Given the description of an element on the screen output the (x, y) to click on. 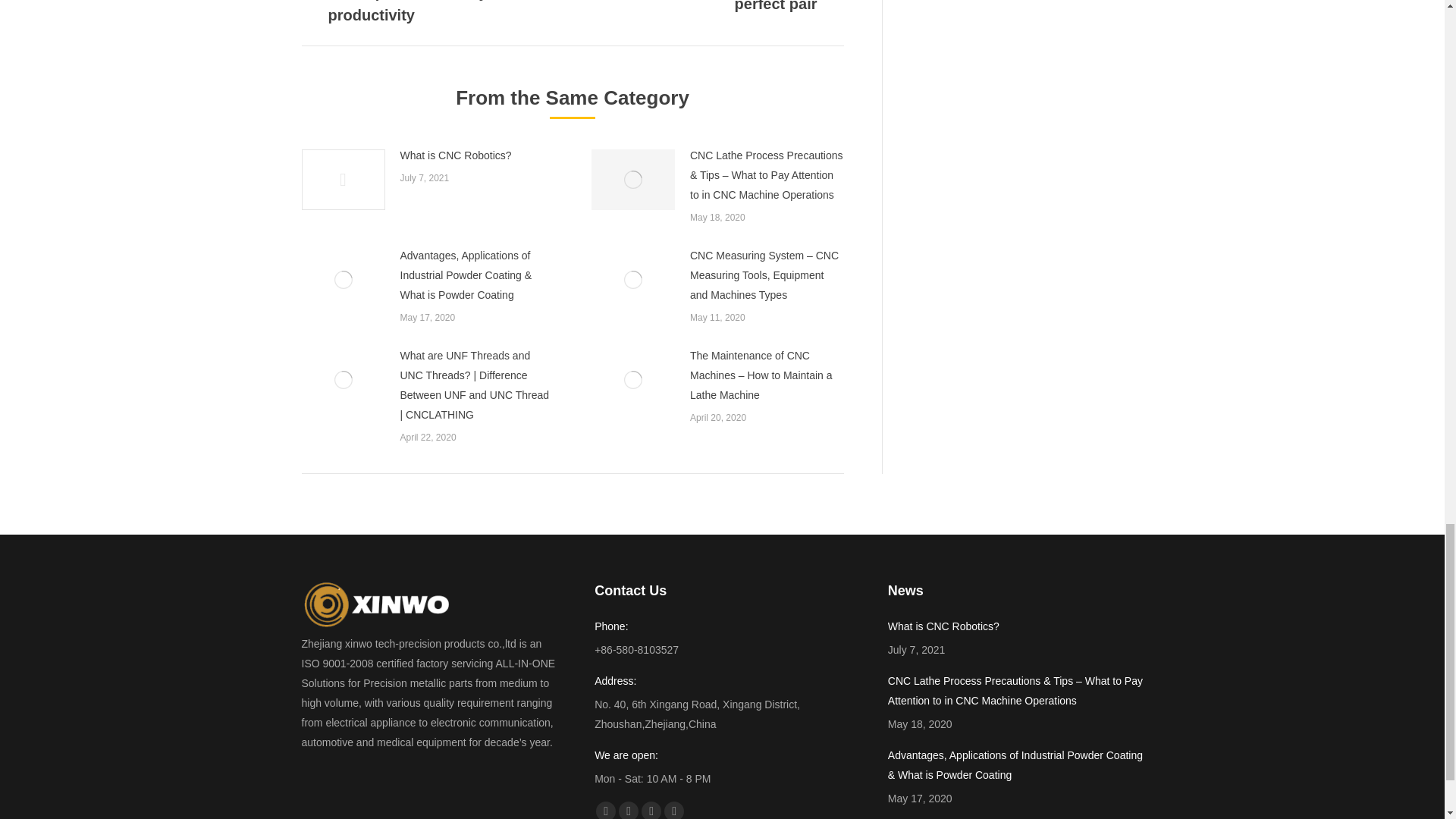
Linkedin page opens in new window (651, 810)
YouTube page opens in new window (628, 810)
Facebook page opens in new window (605, 810)
Instagram page opens in new window (673, 810)
